Given the description of an element on the screen output the (x, y) to click on. 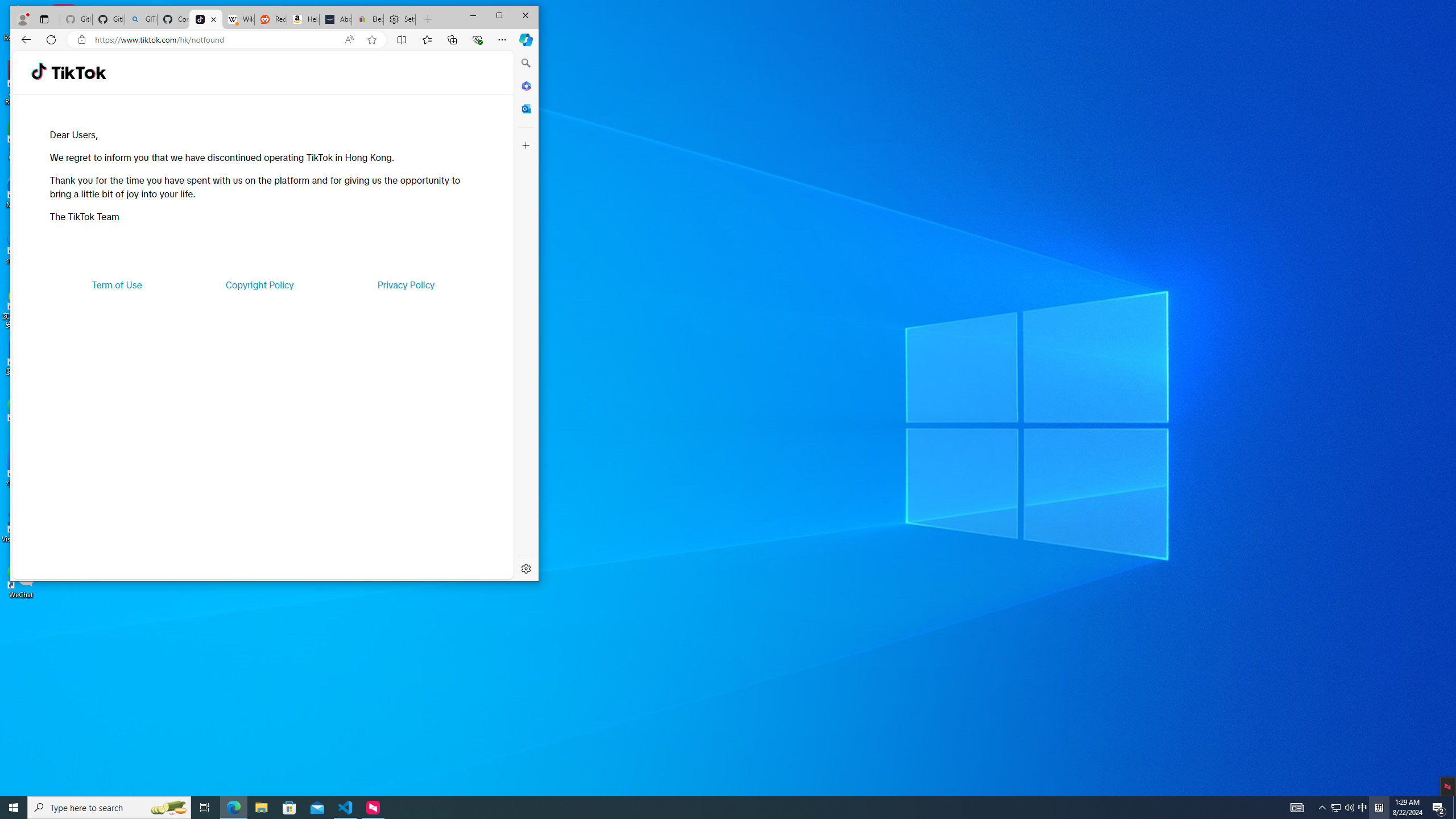
Privacy Policy (405, 284)
About Amazon (335, 19)
